Given the description of an element on the screen output the (x, y) to click on. 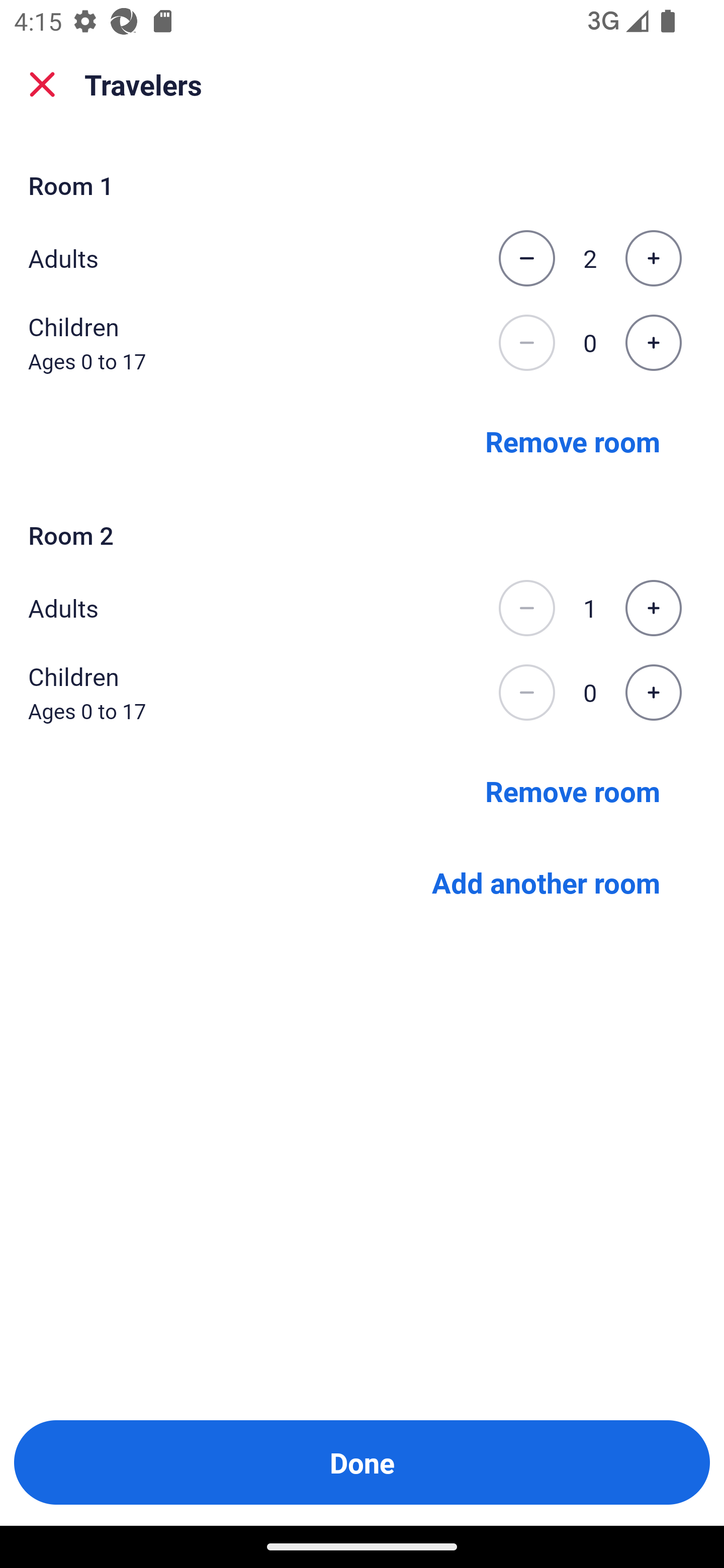
close (42, 84)
Decrease the number of adults (526, 258)
Increase the number of adults (653, 258)
Decrease the number of children (526, 343)
Increase the number of children (653, 343)
Remove room (572, 440)
Decrease the number of adults (526, 608)
Increase the number of adults (653, 608)
Decrease the number of children (526, 692)
Increase the number of children (653, 692)
Remove room (572, 790)
Add another room (545, 882)
Done (361, 1462)
